Given the description of an element on the screen output the (x, y) to click on. 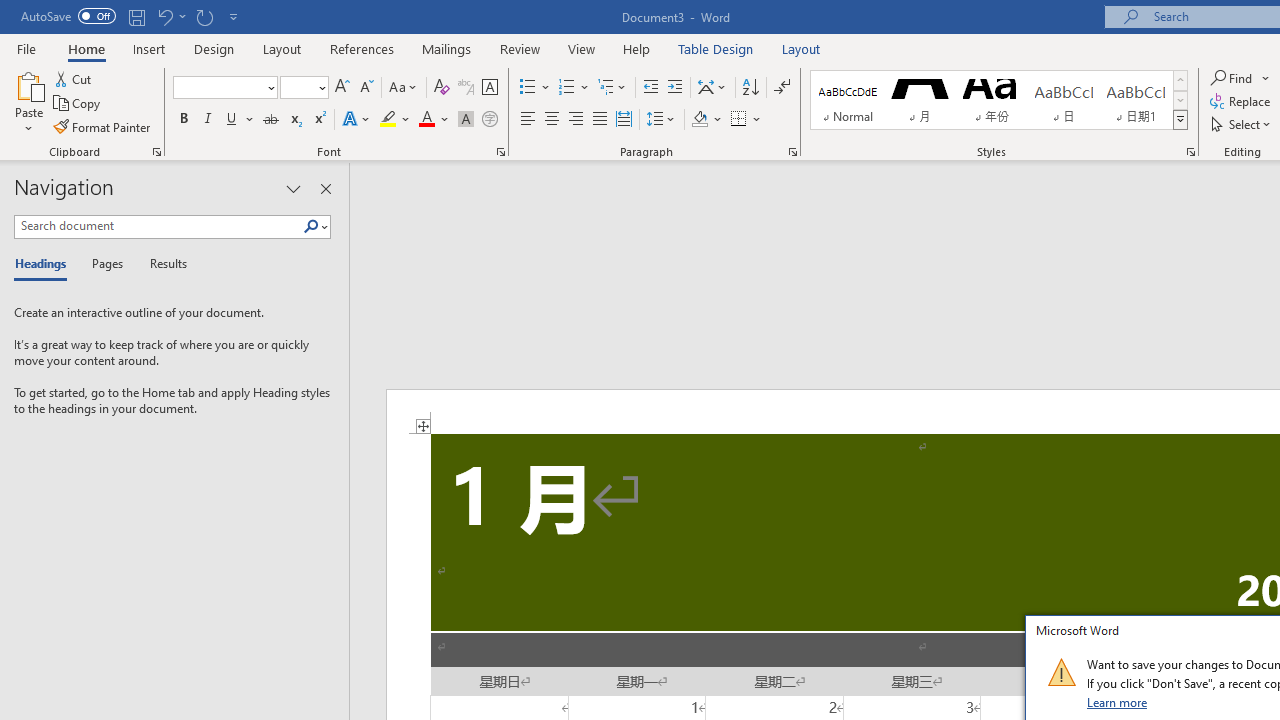
Styles (1179, 120)
Cut (73, 78)
Office Clipboard... (156, 151)
Center (552, 119)
Asian Layout (712, 87)
Undo Distribute Para (164, 15)
